Given the description of an element on the screen output the (x, y) to click on. 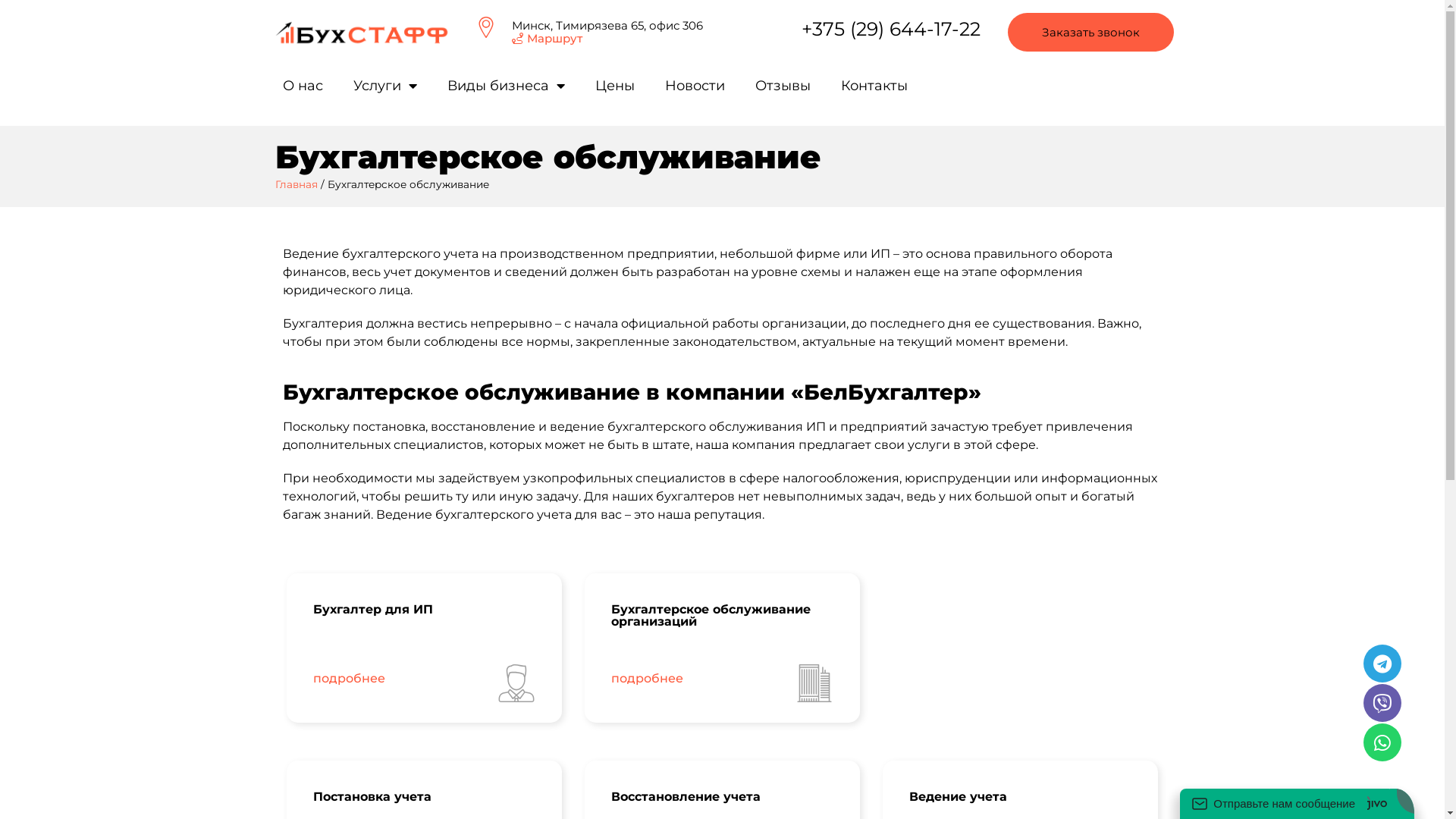
+375 (29) 644-17-22 Element type: text (890, 28)
